Given the description of an element on the screen output the (x, y) to click on. 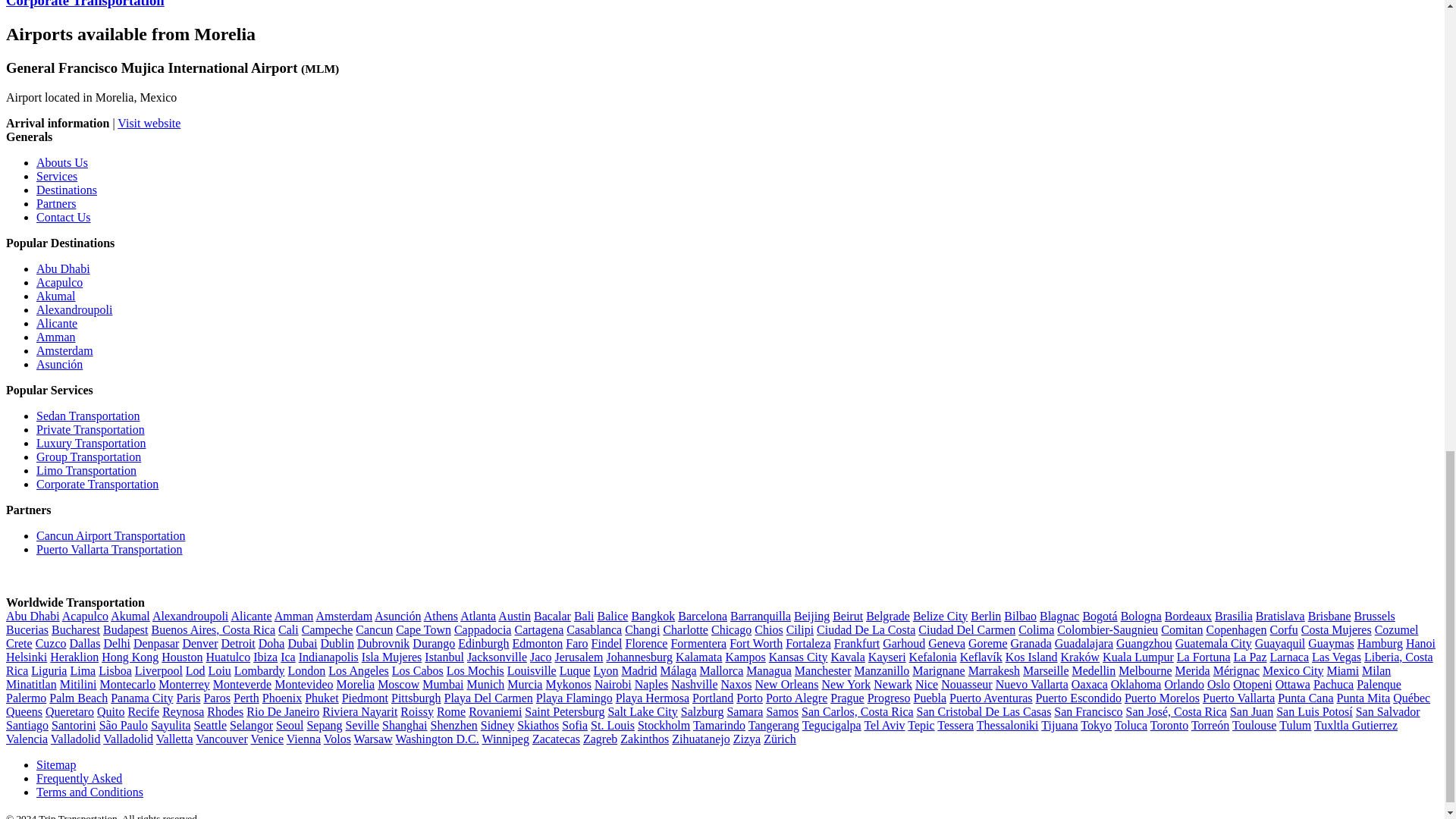
About Trip Transportation (61, 162)
Trip Transportation Services (56, 175)
Destinations (66, 189)
Send us a message (63, 216)
Trip Transportation in Akumal (55, 295)
Visit website (148, 123)
Services (56, 175)
Corporate Transportation (84, 4)
Partners (55, 203)
Abouts Us (61, 162)
Partner with Trip Transportation (55, 203)
Trip Transportation in Acapulco (59, 282)
Contact Us (63, 216)
Trip Transportation in Abu Dhabi (63, 268)
Available destinations (66, 189)
